Given the description of an element on the screen output the (x, y) to click on. 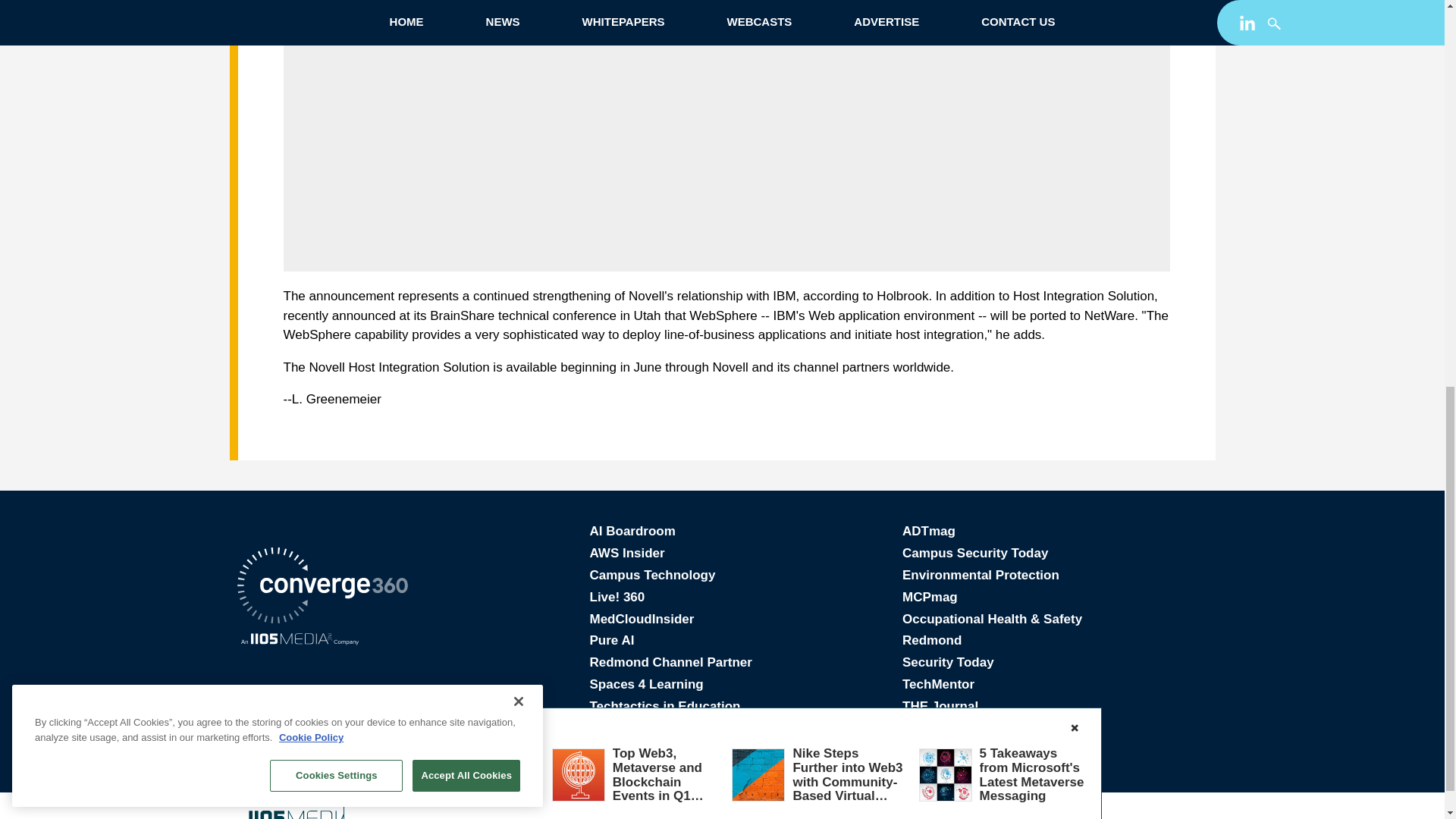
AWS Insider (627, 553)
Spaces 4 Learning (646, 684)
Campus Security Today (975, 553)
Live! 360 (617, 596)
Environmental Protection (980, 575)
3rd party ad content (726, 153)
AI Boardroom (632, 531)
Redmond (931, 640)
Security Today (948, 662)
Top Web3, Metaverse and Blockchain Events in Q1 2023 (657, 27)
Redmond Channel Partner (670, 662)
MedCloudInsider (641, 618)
MCPmag (930, 596)
ADTmag (928, 531)
